Given the description of an element on the screen output the (x, y) to click on. 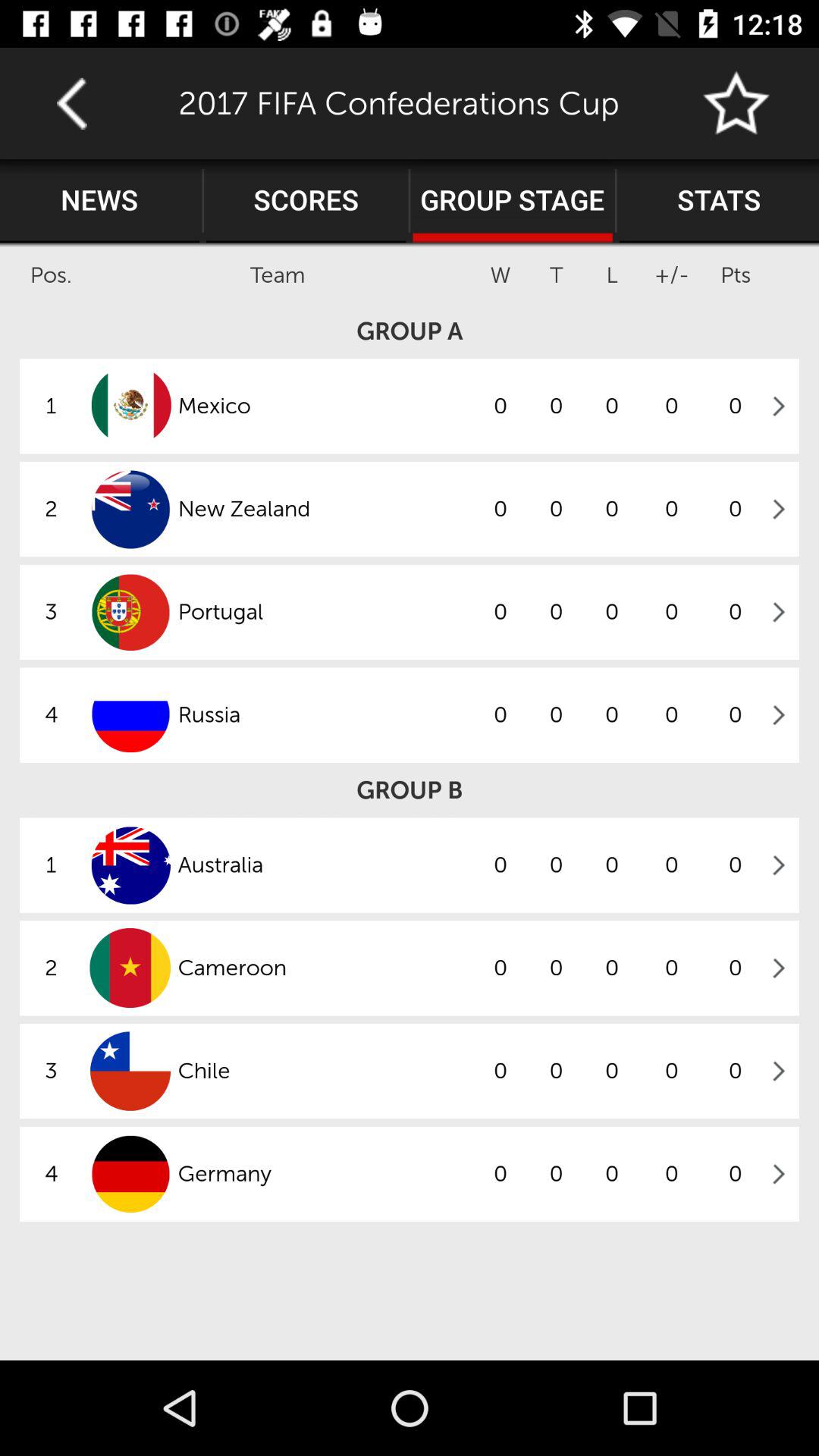
go back (71, 103)
